Given the description of an element on the screen output the (x, y) to click on. 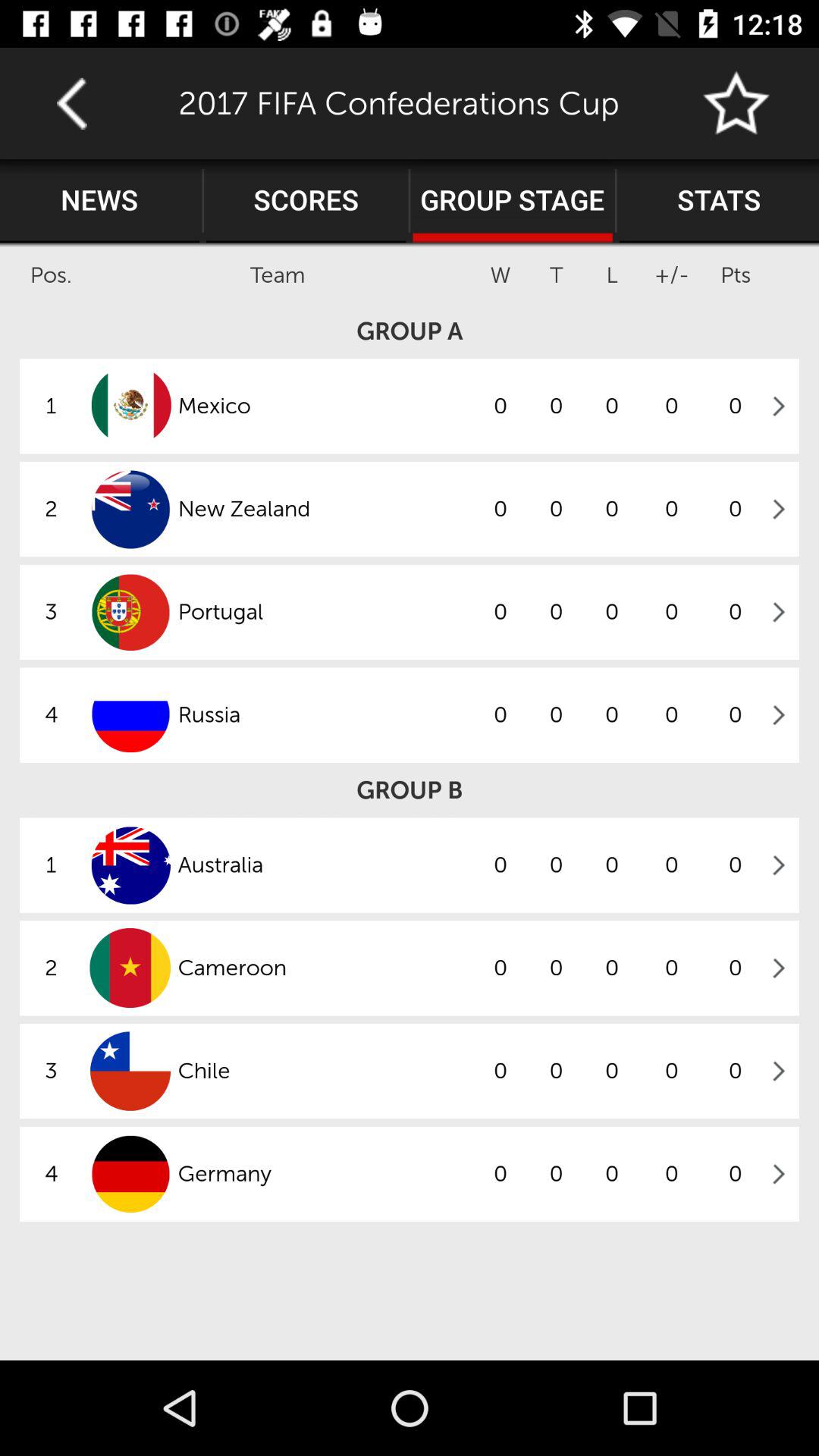
go back (71, 103)
